Given the description of an element on the screen output the (x, y) to click on. 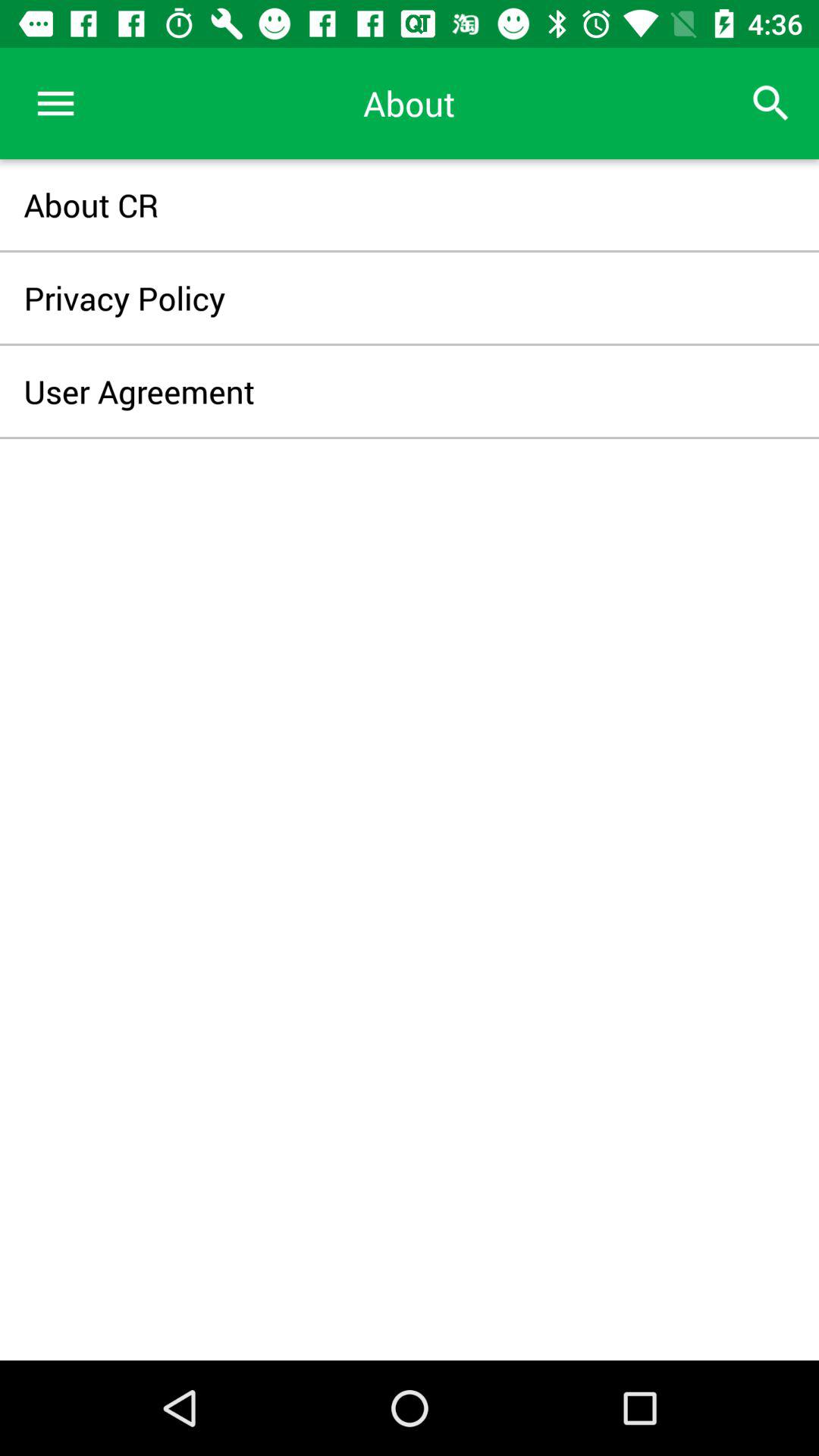
press icon next to the about item (55, 103)
